Given the description of an element on the screen output the (x, y) to click on. 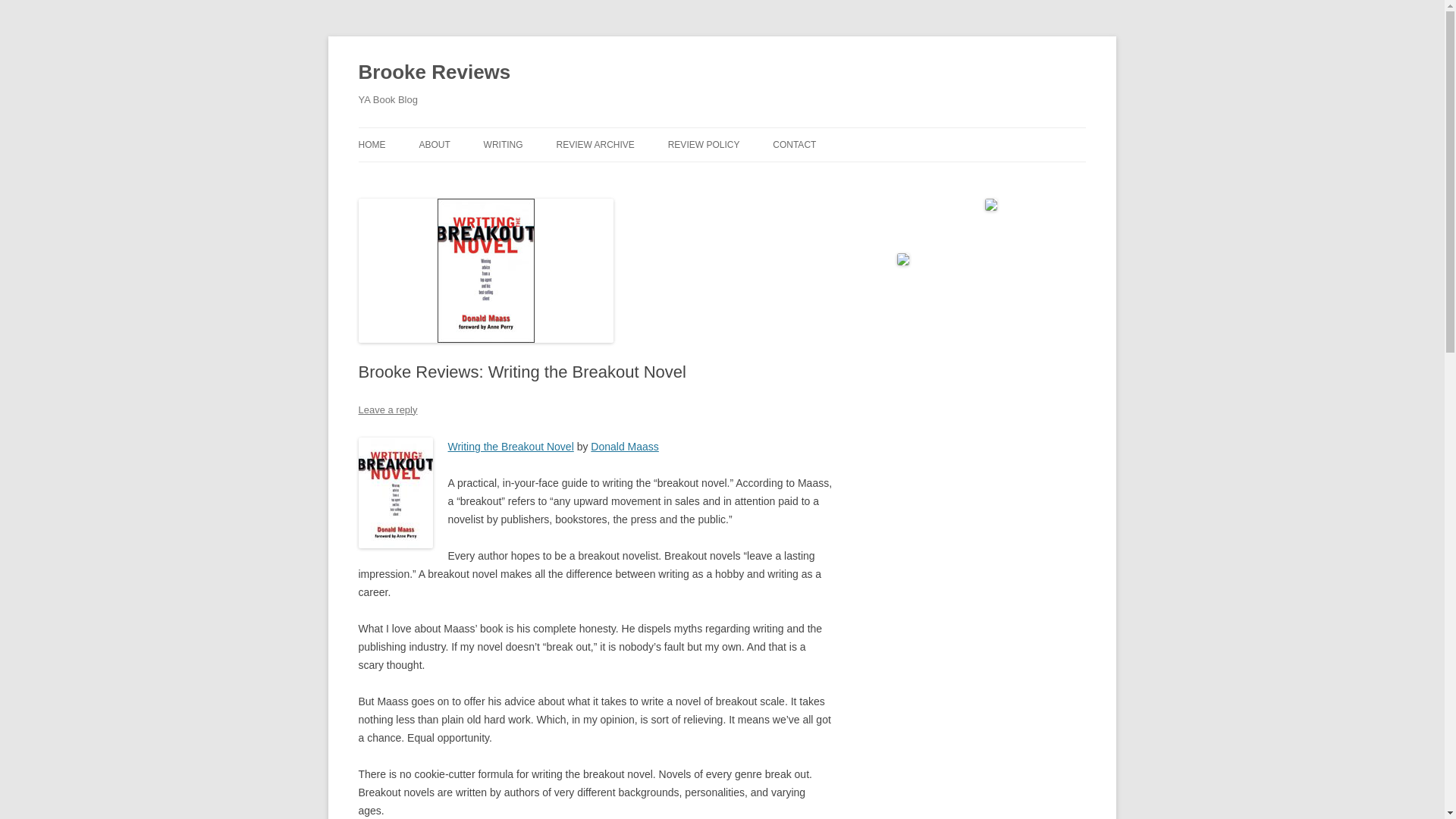
WRITING (502, 144)
Writing the Breakout Novel (509, 446)
Leave a reply (387, 409)
CONTACT (794, 144)
REVIEW ARCHIVE (594, 144)
BLOG SERIES (494, 176)
REVIEW POLICY (703, 144)
Donald Maass (625, 446)
ABOUT (434, 144)
Brooke Reviews (434, 72)
